Given the description of an element on the screen output the (x, y) to click on. 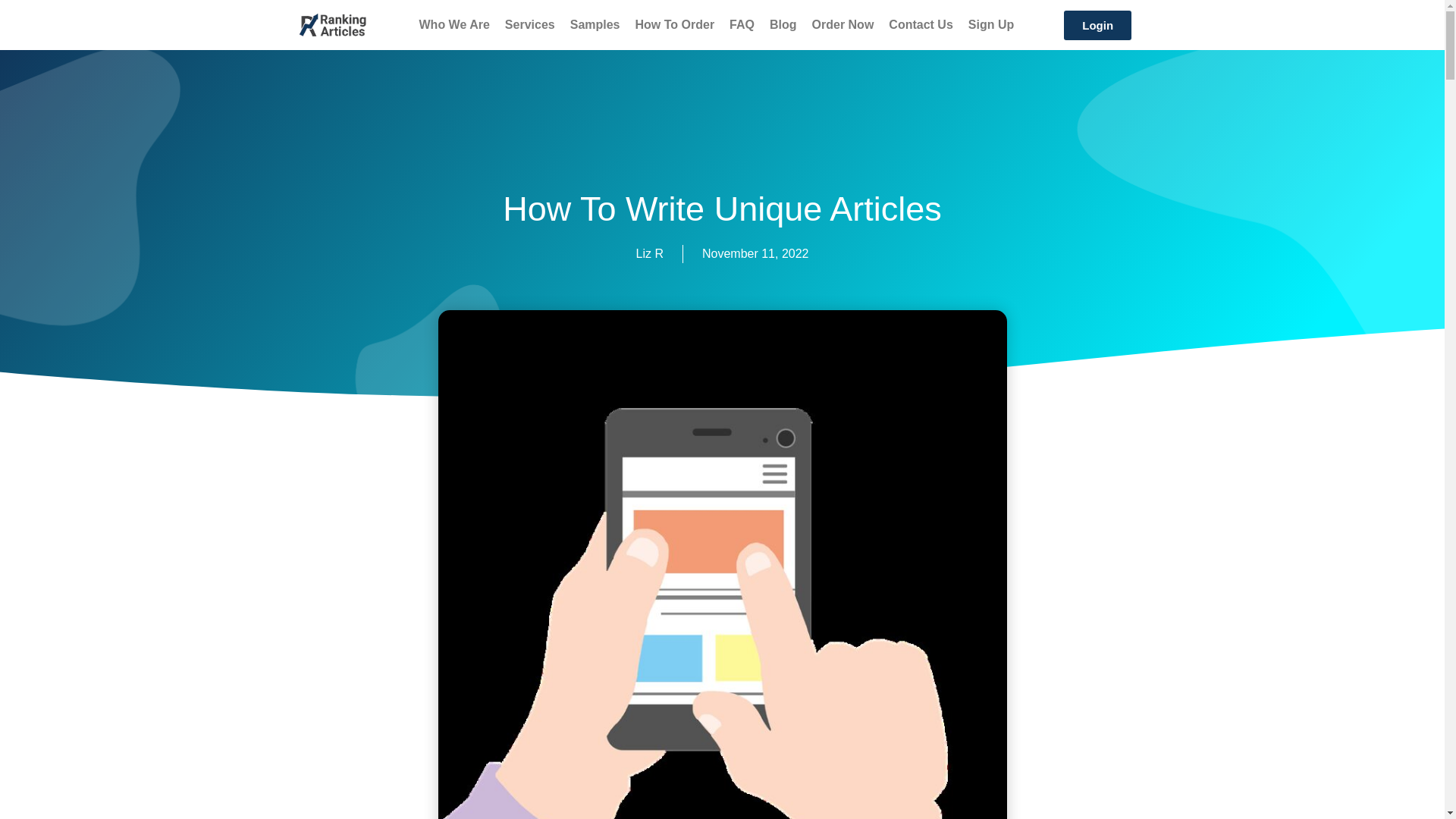
Sign Up (991, 24)
FAQ (741, 24)
Samples (594, 24)
Login (1097, 25)
How To Order (674, 24)
Blog (783, 24)
Who We Are (454, 24)
Services (529, 24)
Contact Us (919, 24)
Order Now (843, 24)
